Given the description of an element on the screen output the (x, y) to click on. 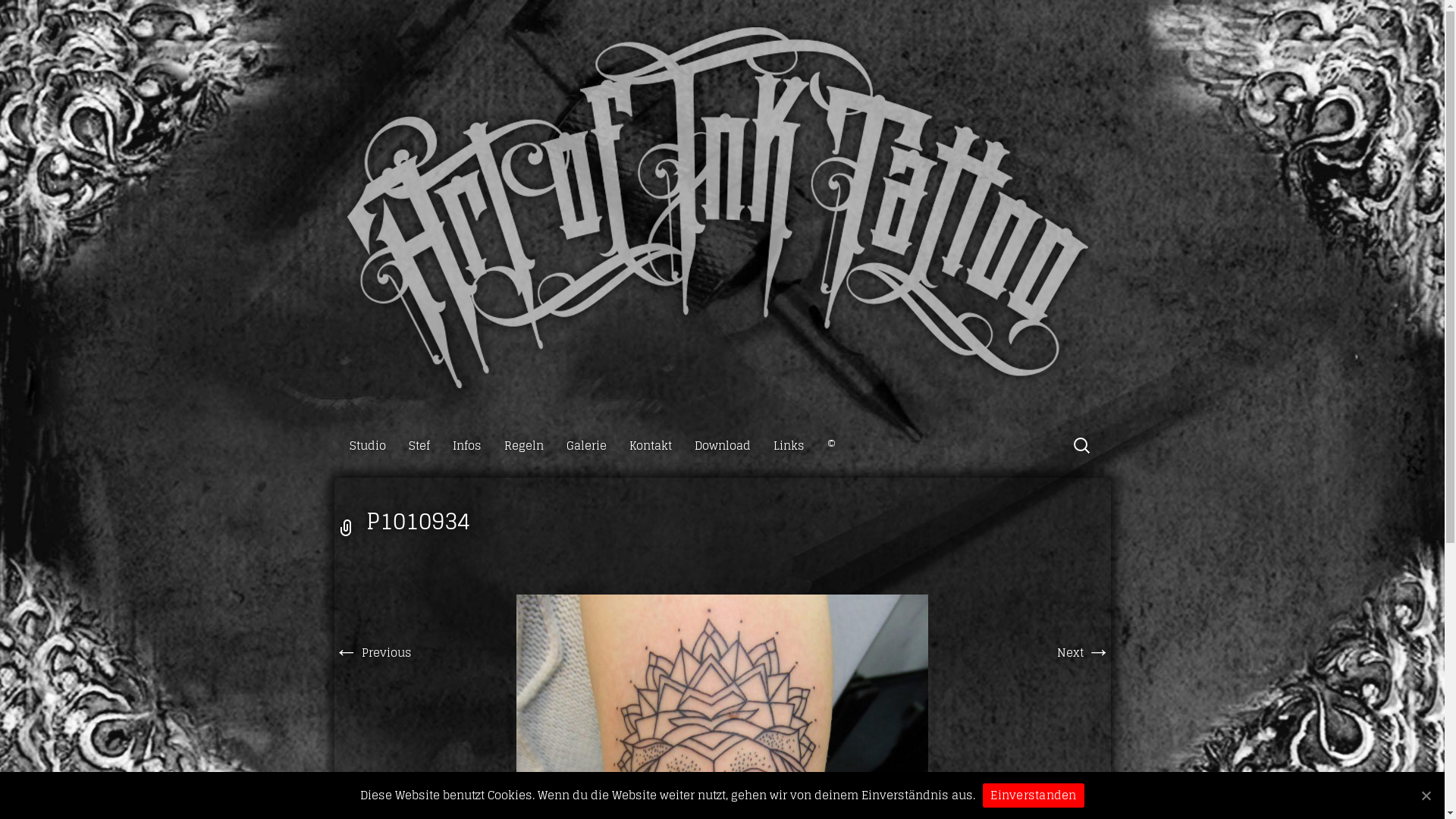
Suche Element type: text (18, 18)
Download Element type: text (717, 445)
Links Element type: text (783, 445)
Jellyfruit Media Element type: text (1375, 801)
Kontakt Element type: text (645, 445)
Stef Element type: text (412, 445)
Studio Element type: text (361, 445)
Skip to content Element type: text (333, 428)
Regeln Element type: text (517, 445)
Einverstanden Element type: text (1032, 794)
Infos Element type: text (460, 445)
Galerie Element type: text (580, 445)
